Given the description of an element on the screen output the (x, y) to click on. 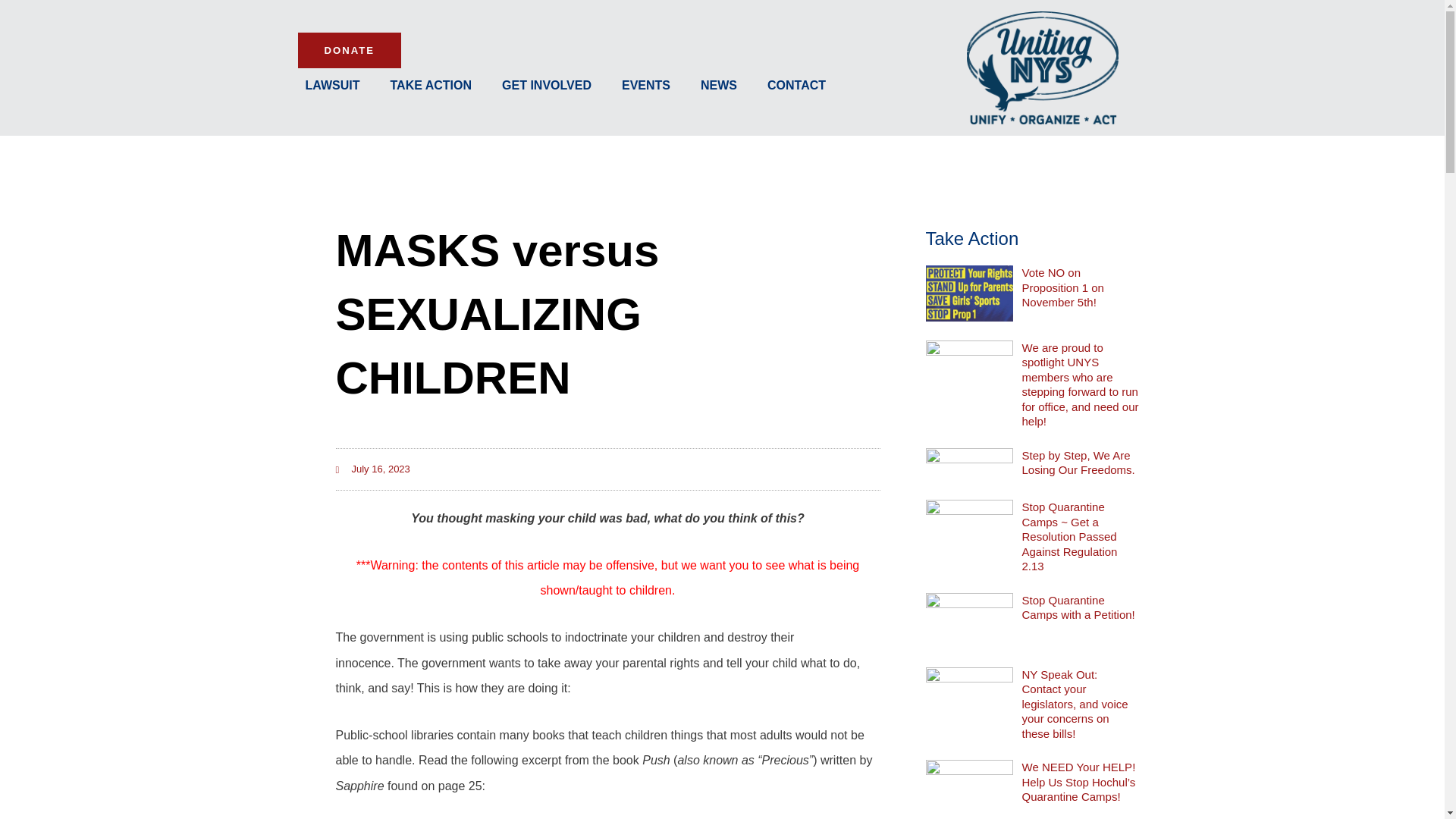
Vote NO on Proposition 1 on November 5th! (1062, 287)
GET INVOLVED (546, 85)
CONTACT (796, 85)
Step by Step, We Are Losing Our Freedoms. (1078, 462)
DONATE (349, 49)
NEWS (718, 85)
TAKE ACTION (430, 85)
July 16, 2023 (371, 469)
Stop Quarantine Camps with a Petition! (1078, 607)
EVENTS (646, 85)
LAWSUIT (331, 85)
